Given the description of an element on the screen output the (x, y) to click on. 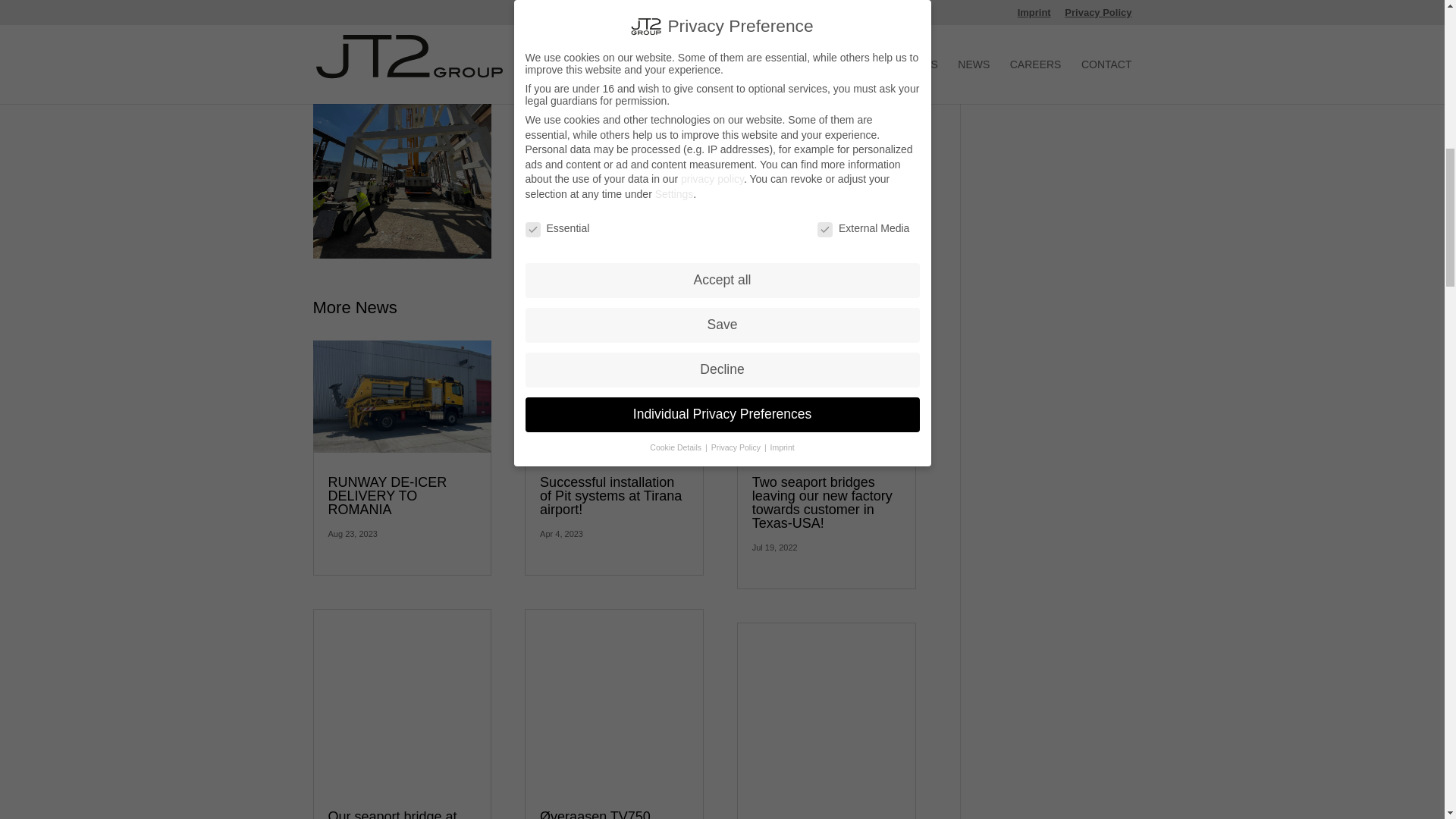
Our seaport bridge at work in USA! (392, 814)
Successful installation of Pit systems at Tirana airport! (610, 495)
RUNWAY DE-ICER DELIVERY TO ROMANIA (386, 495)
